Given the description of an element on the screen output the (x, y) to click on. 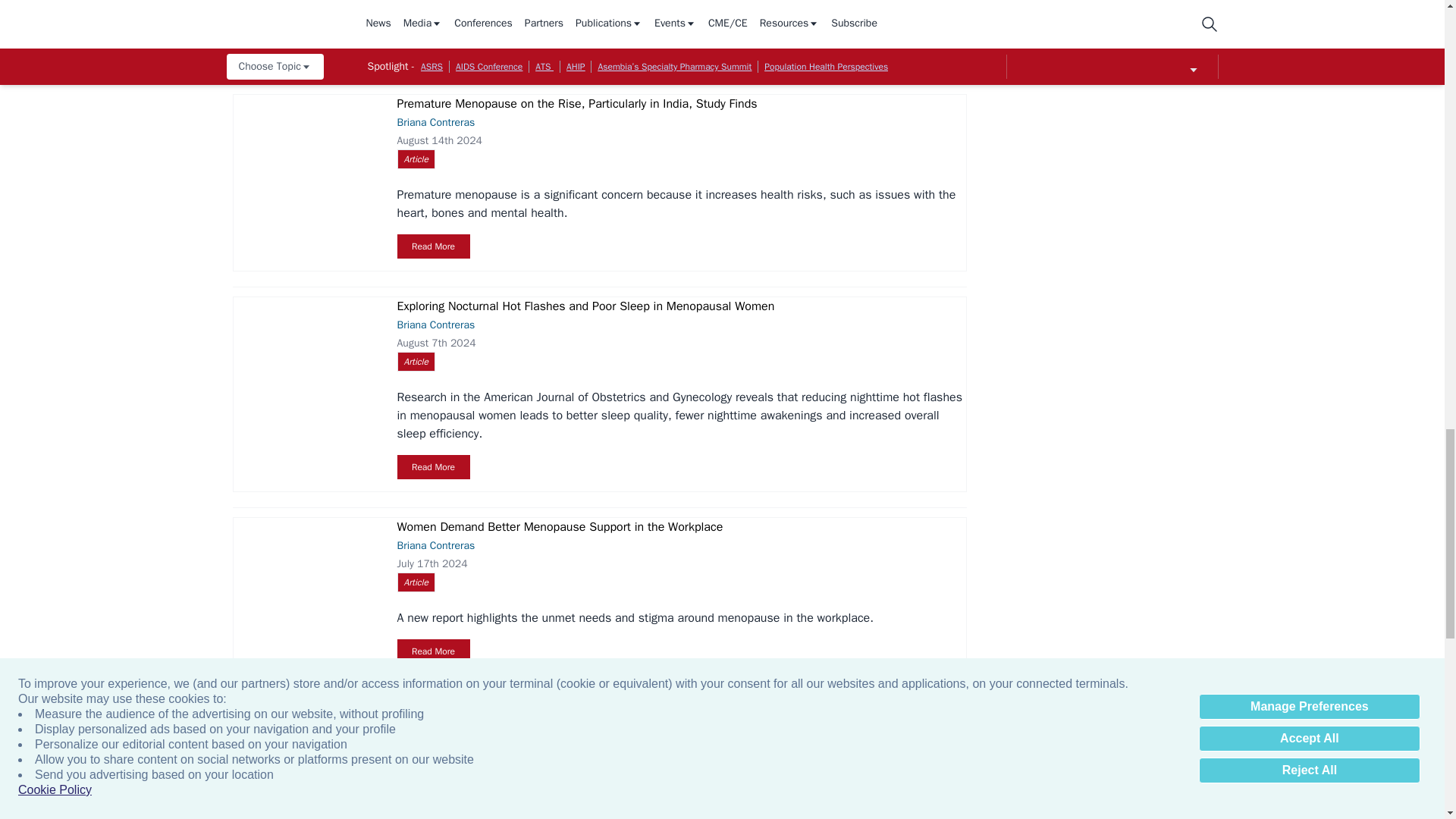
Women Demand Better Menopause Support in the Workplace (305, 565)
